Given the description of an element on the screen output the (x, y) to click on. 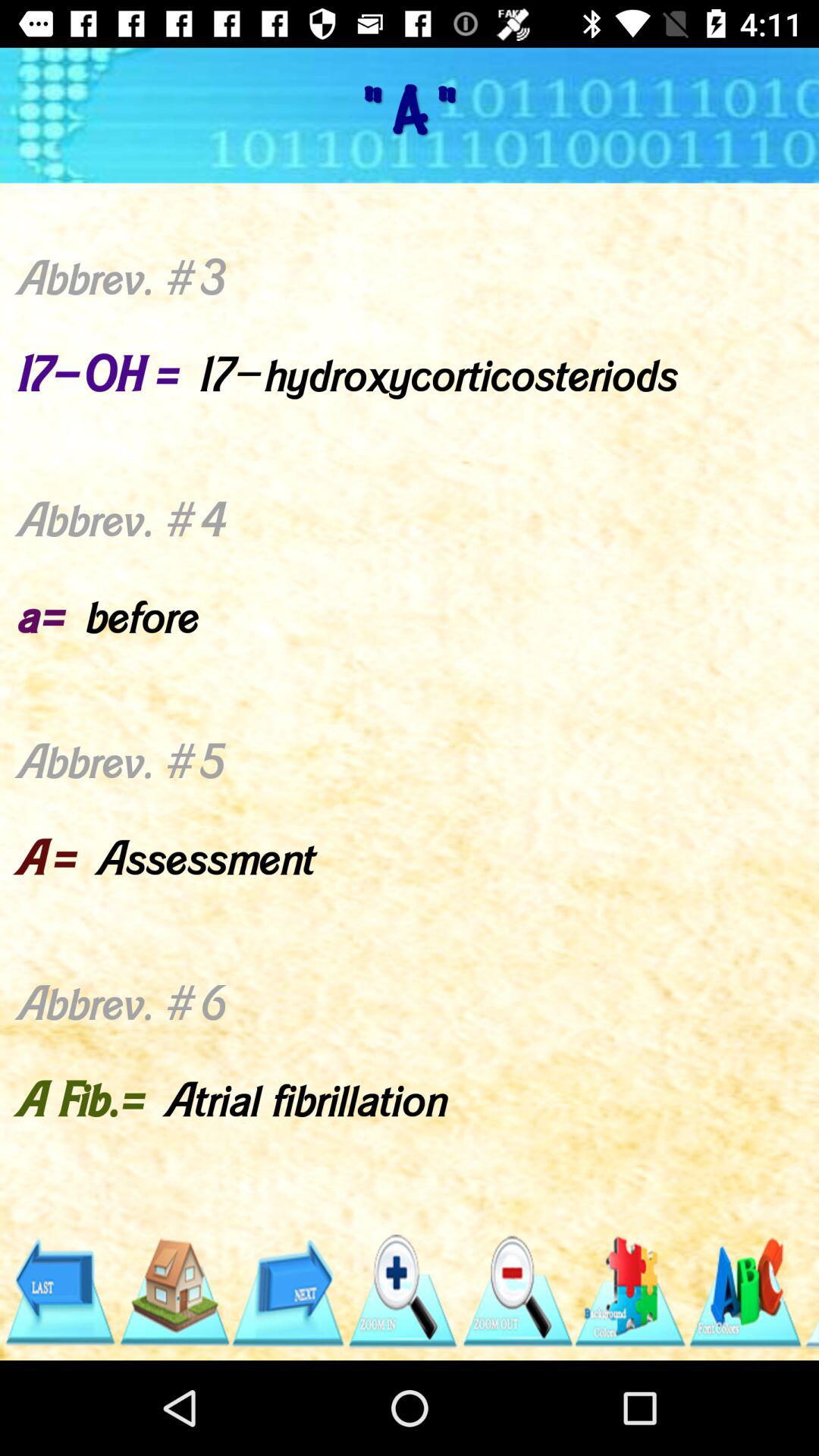
decrease magnification (516, 1291)
